Given the description of an element on the screen output the (x, y) to click on. 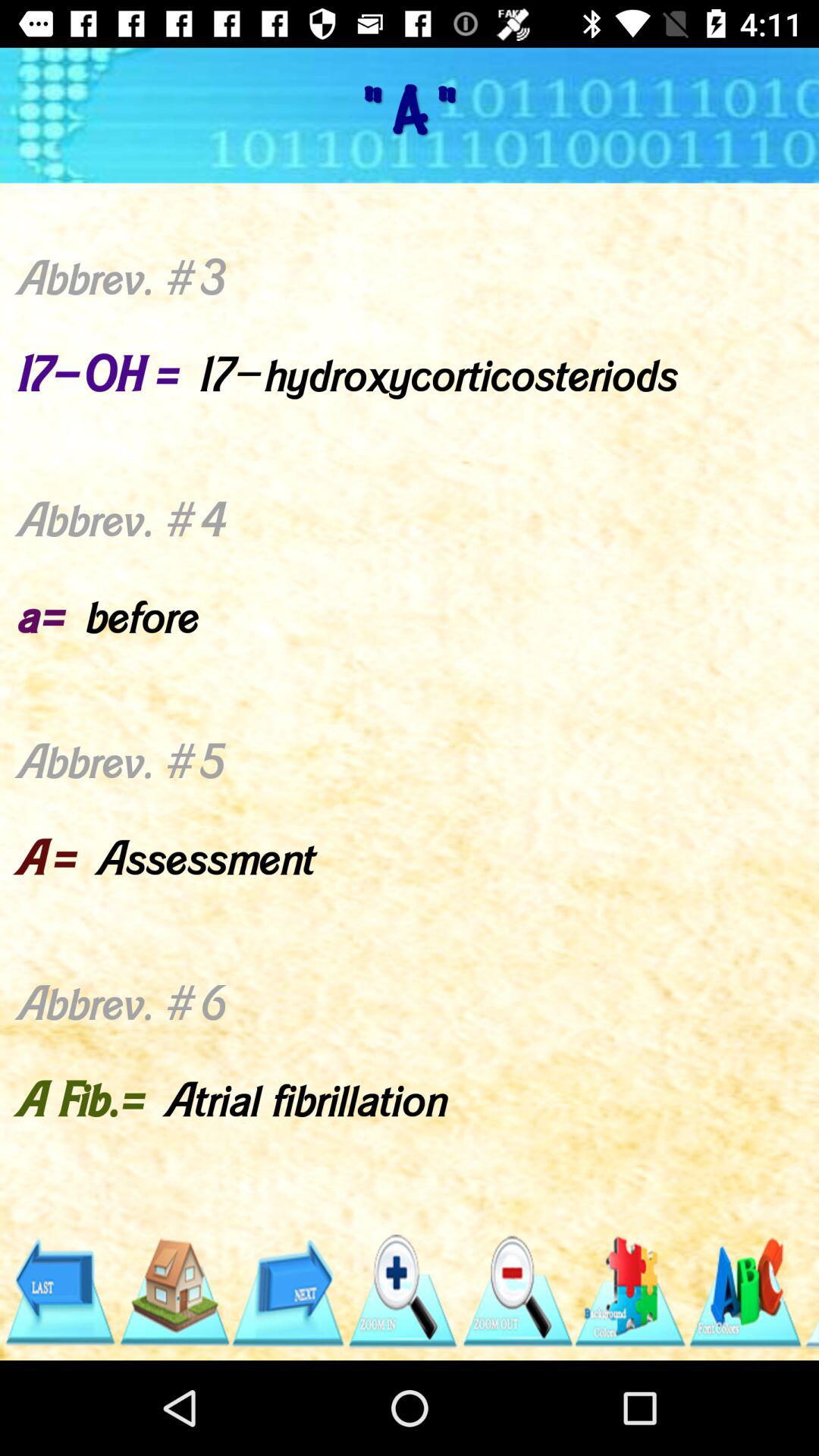
decrease magnification (516, 1291)
